Given the description of an element on the screen output the (x, y) to click on. 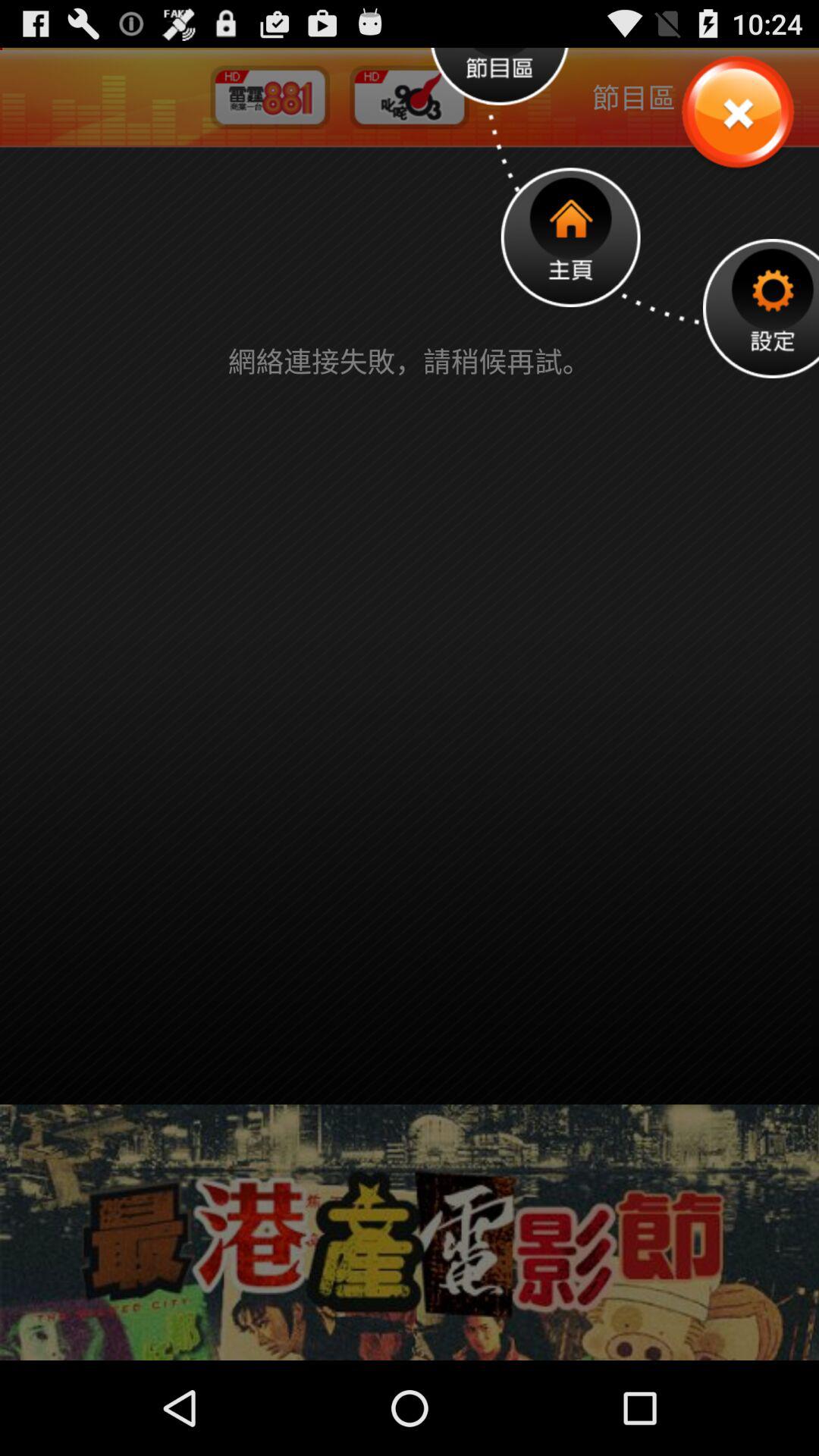
toggle the settings bar option (760, 308)
